Given the description of an element on the screen output the (x, y) to click on. 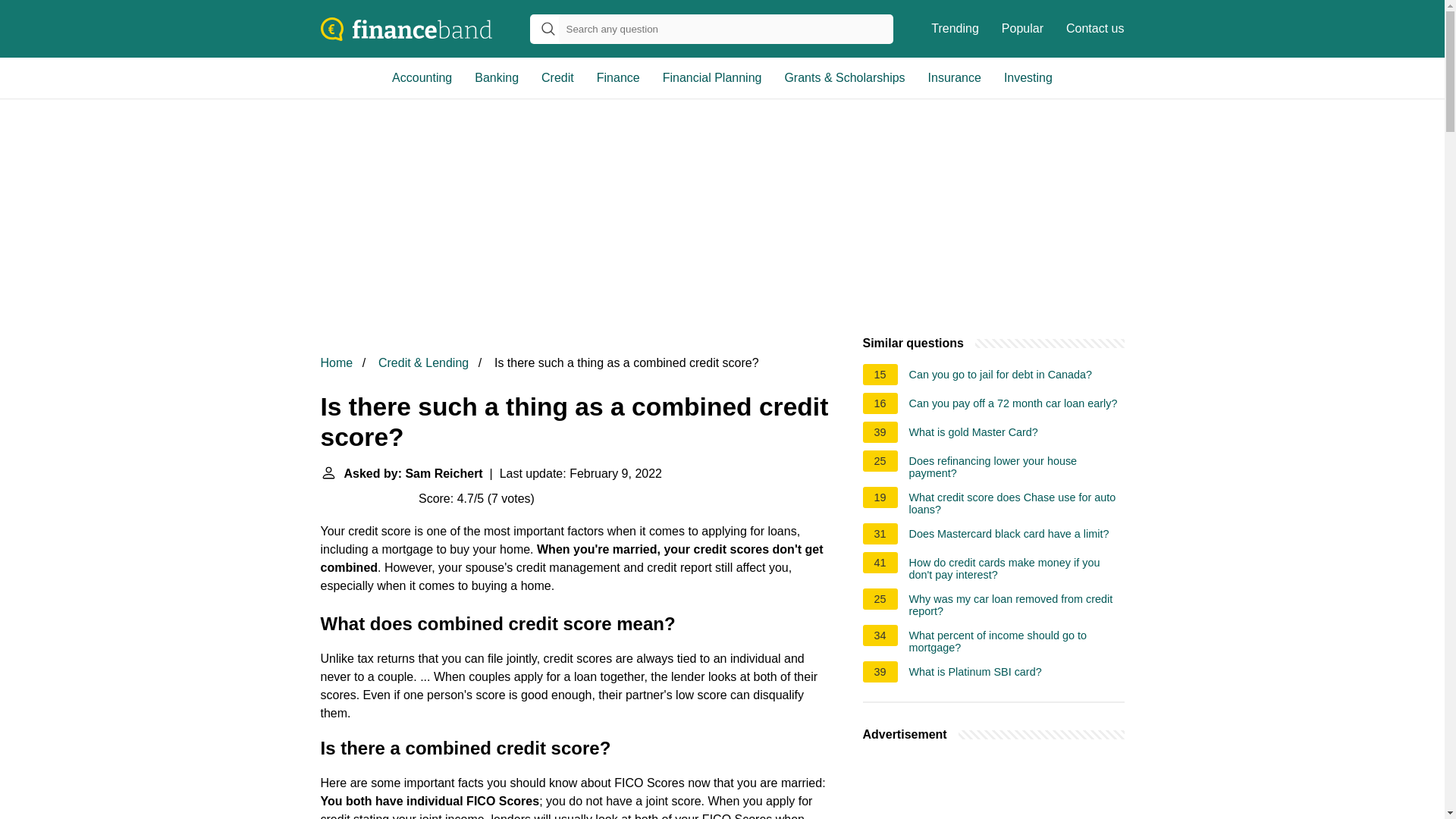
Does refinancing lower your house payment? (1016, 467)
Finance (617, 77)
Does Mastercard black card have a limit? (1008, 535)
Financial Planning (711, 77)
Can you pay off a 72 month car loan early? (1013, 405)
Trending (954, 28)
Investing (1028, 77)
Banking (496, 77)
Contact us (1094, 28)
What percent of income should go to mortgage? (1016, 641)
What is gold Master Card? (973, 434)
Home (336, 362)
Credit (557, 77)
Can you go to jail for debt in Canada? (1000, 376)
Insurance (954, 77)
